Given the description of an element on the screen output the (x, y) to click on. 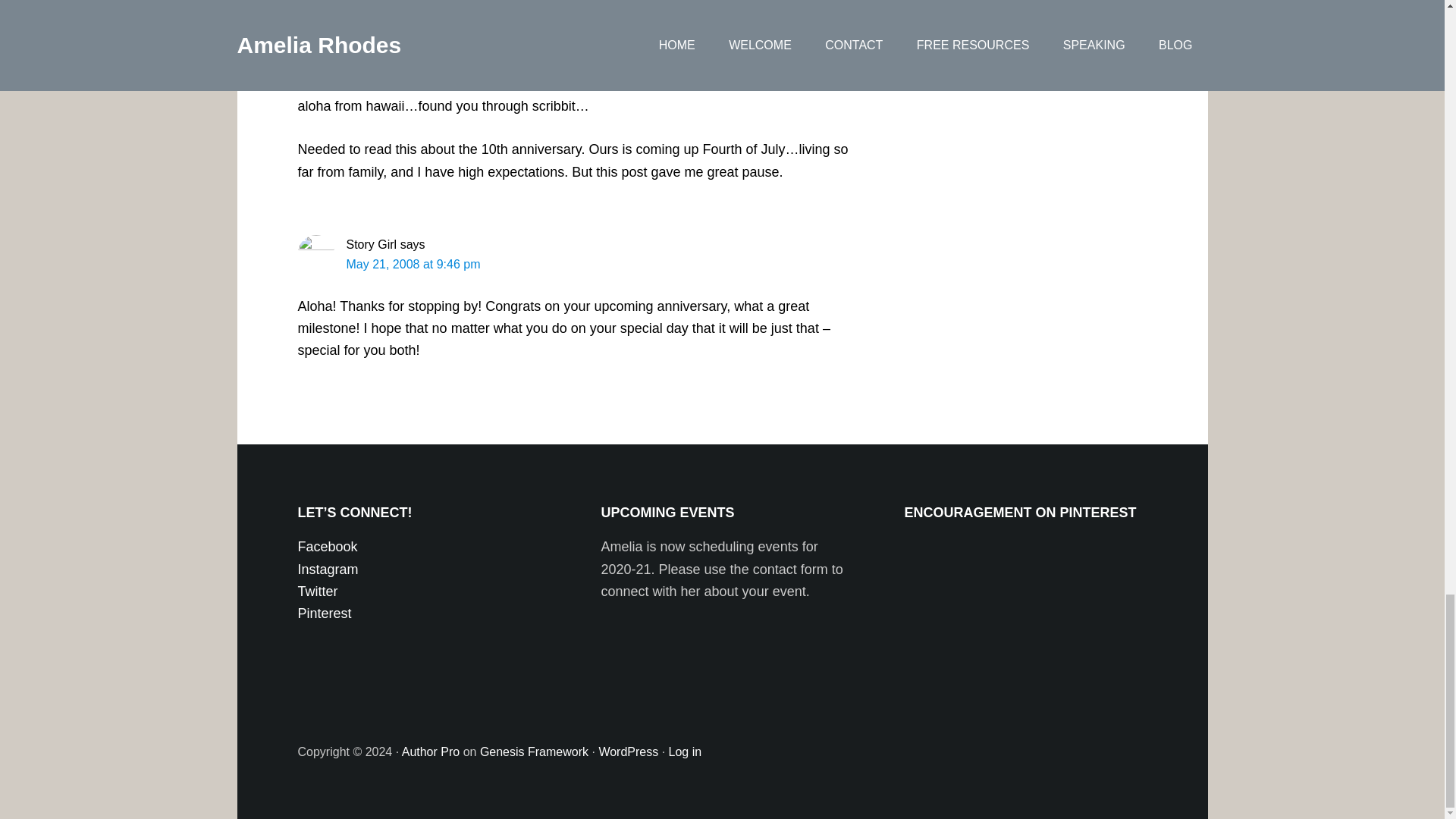
May 21, 2008 at 9:46 pm (413, 264)
May 21, 2008 at 4:25 pm (413, 63)
thefarmerfiles (382, 43)
